Given the description of an element on the screen output the (x, y) to click on. 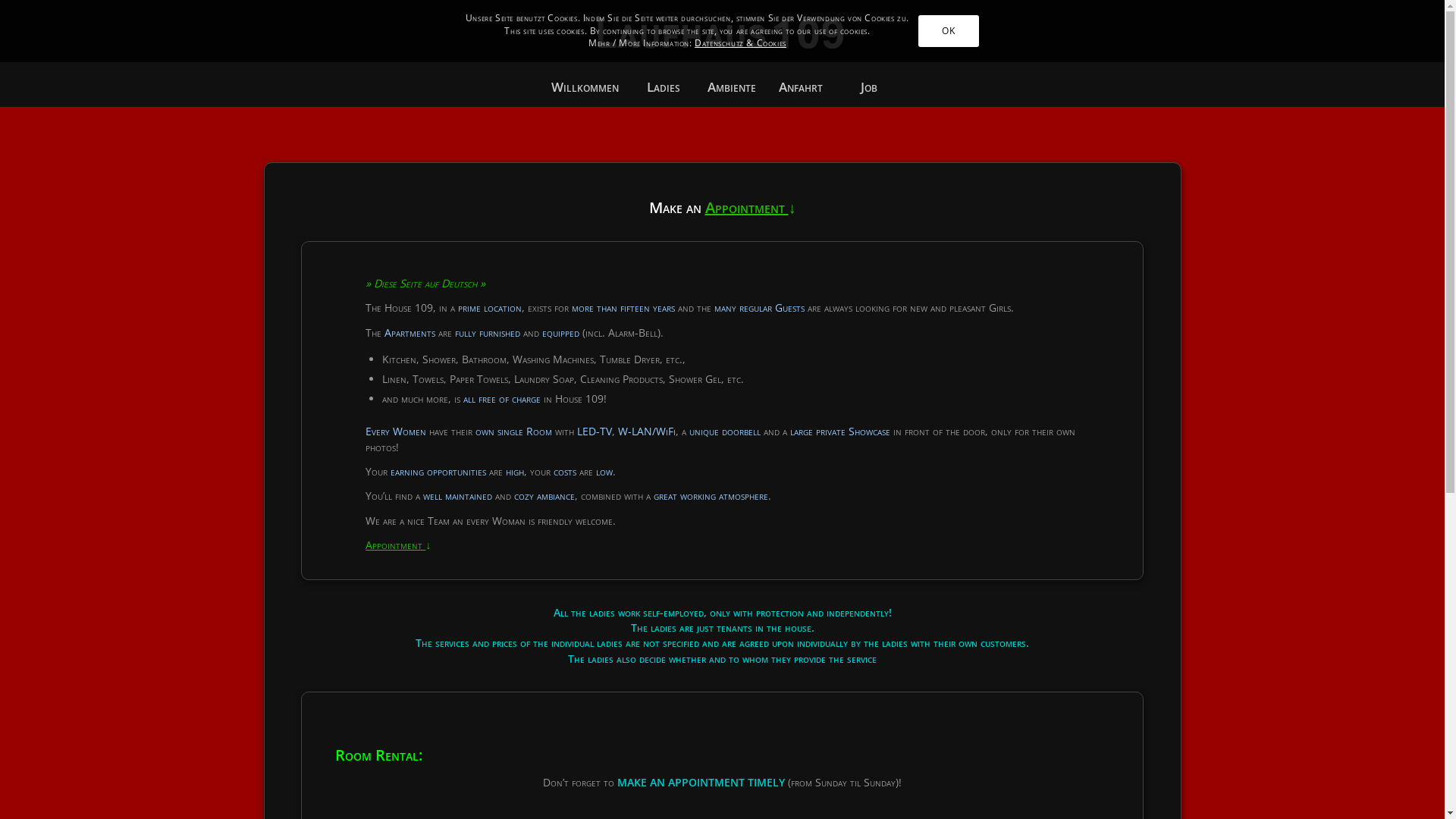
Ladies Element type: text (662, 87)
laufhaus109 Element type: hover (721, 33)
Anfahrt Element type: text (799, 87)
Job Element type: text (868, 87)
Willkommen Element type: text (584, 87)
OK Element type: text (948, 31)
Ambiente Element type: text (730, 87)
Datenschutz & Cookies Element type: text (740, 42)
